Given the description of an element on the screen output the (x, y) to click on. 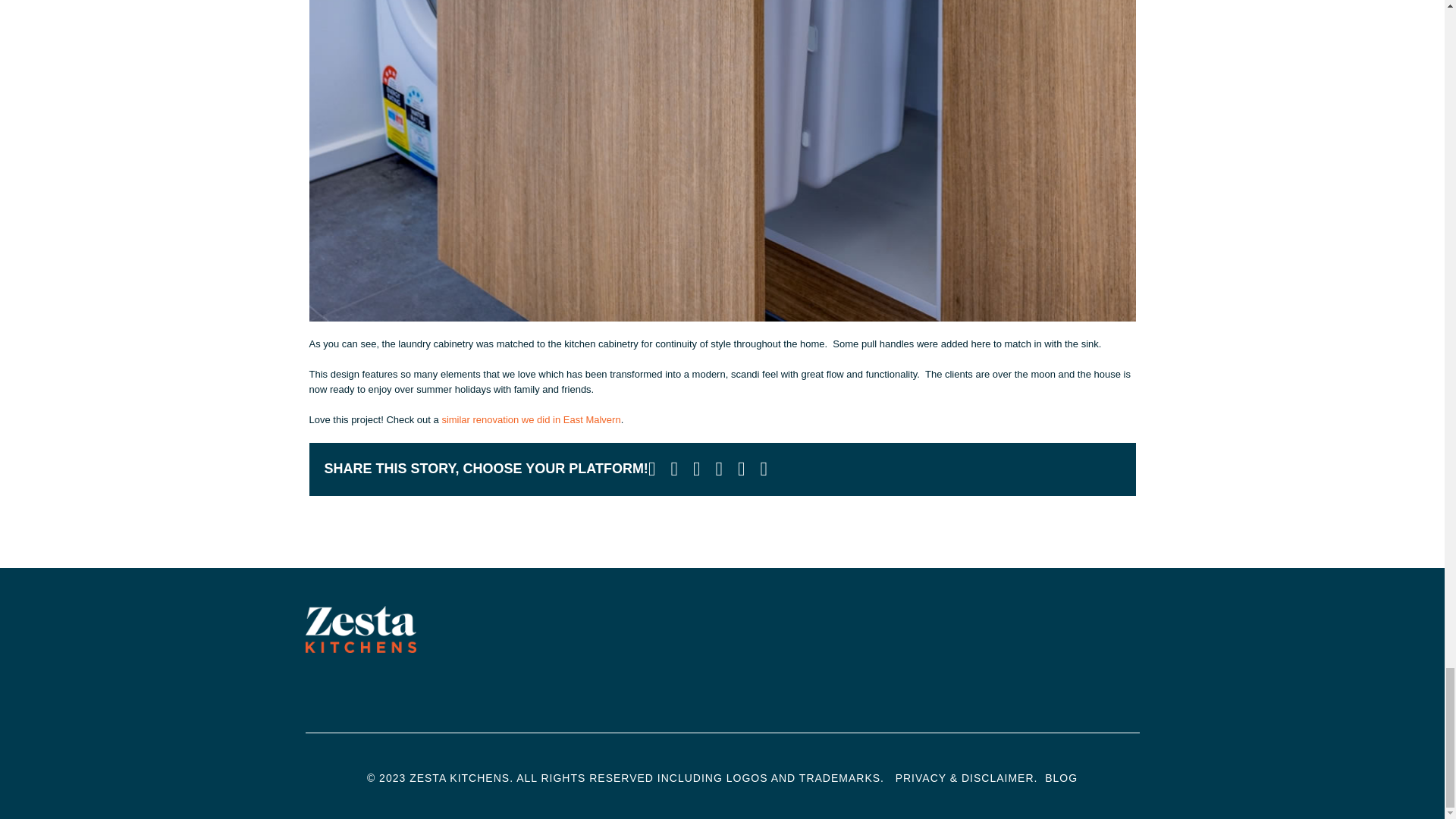
Hero Logo (360, 629)
